Given the description of an element on the screen output the (x, y) to click on. 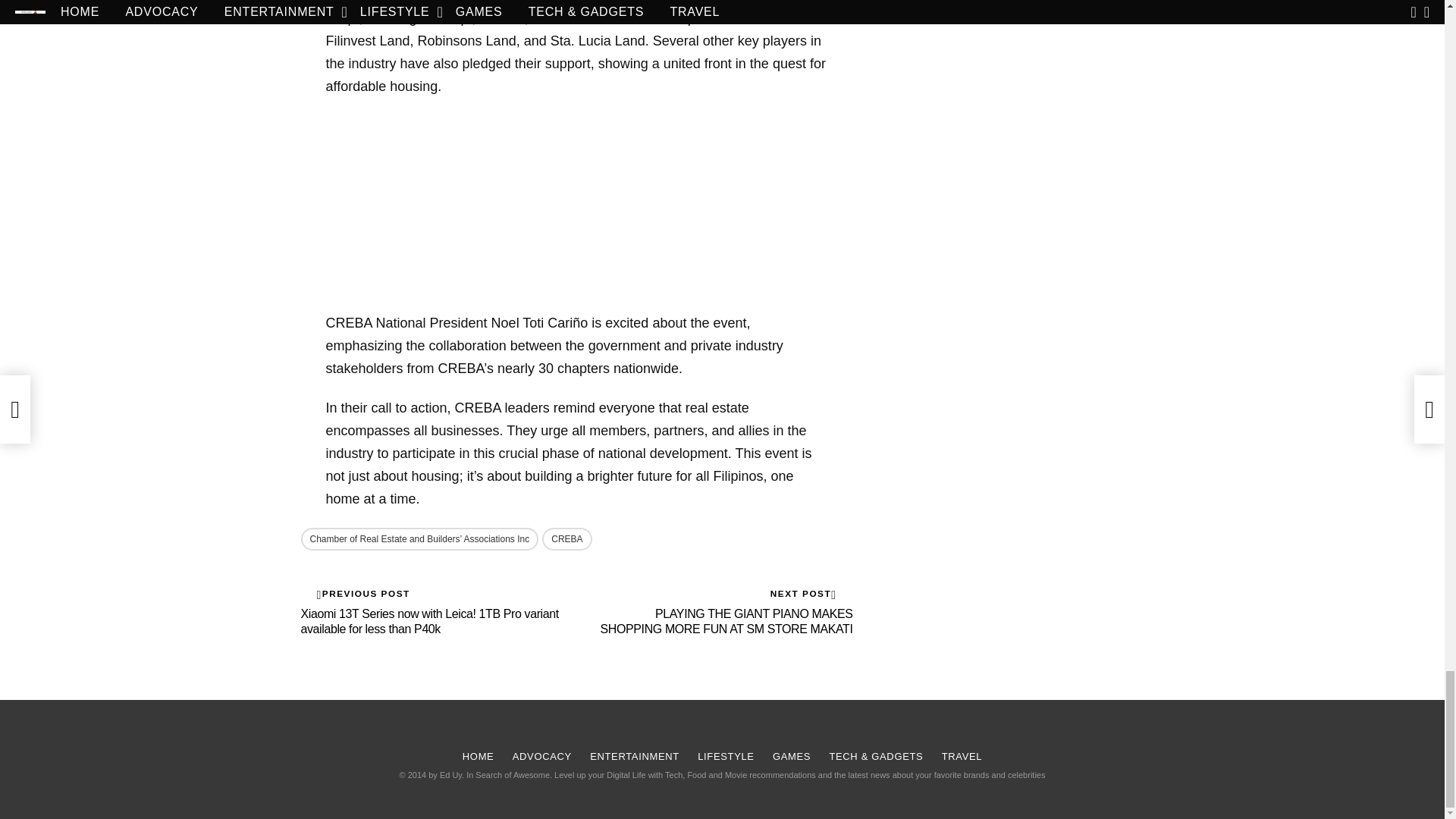
CREBA (566, 538)
